Given the description of an element on the screen output the (x, y) to click on. 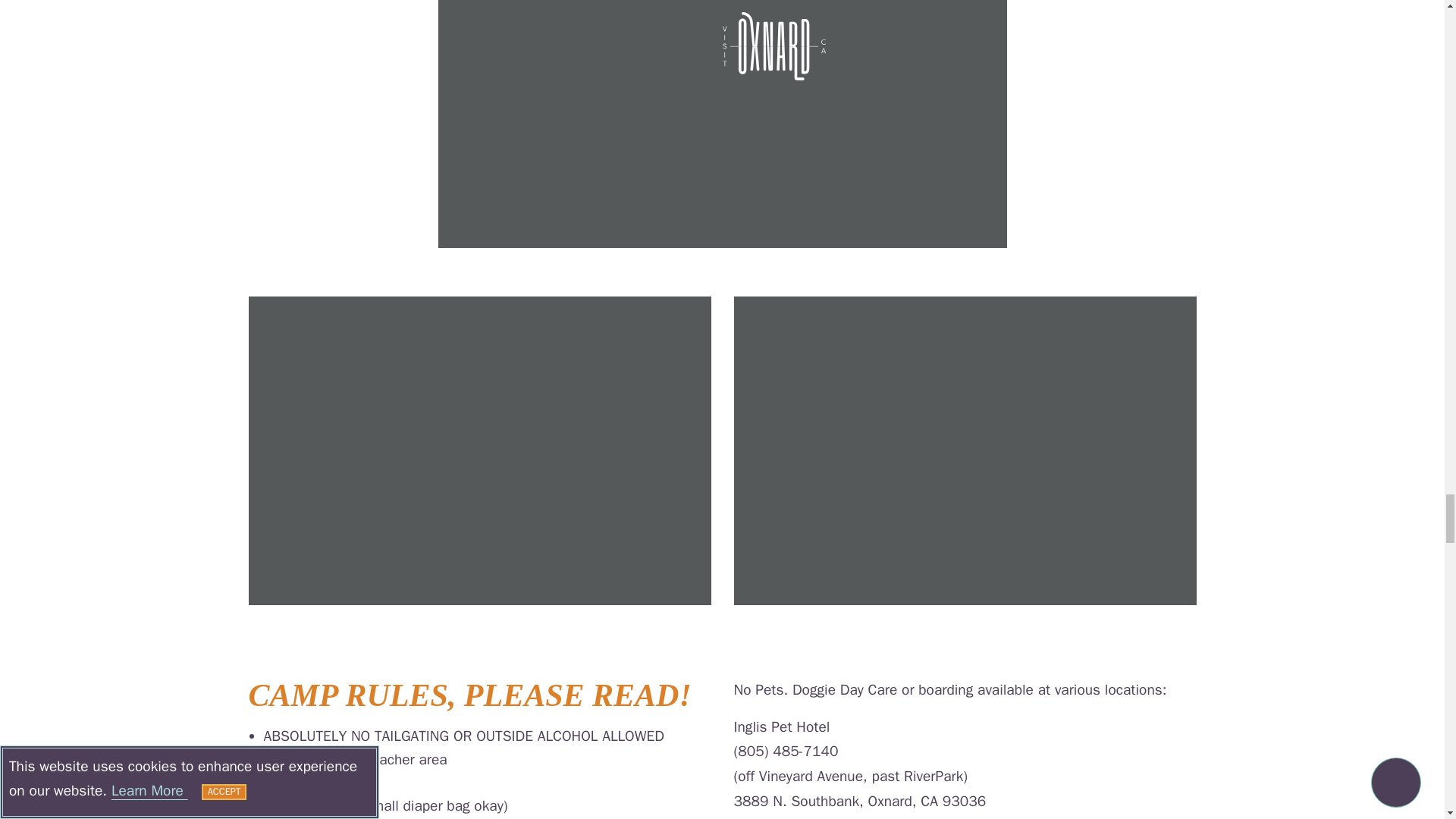
www.inglispethotel.com (808, 817)
